Given the description of an element on the screen output the (x, y) to click on. 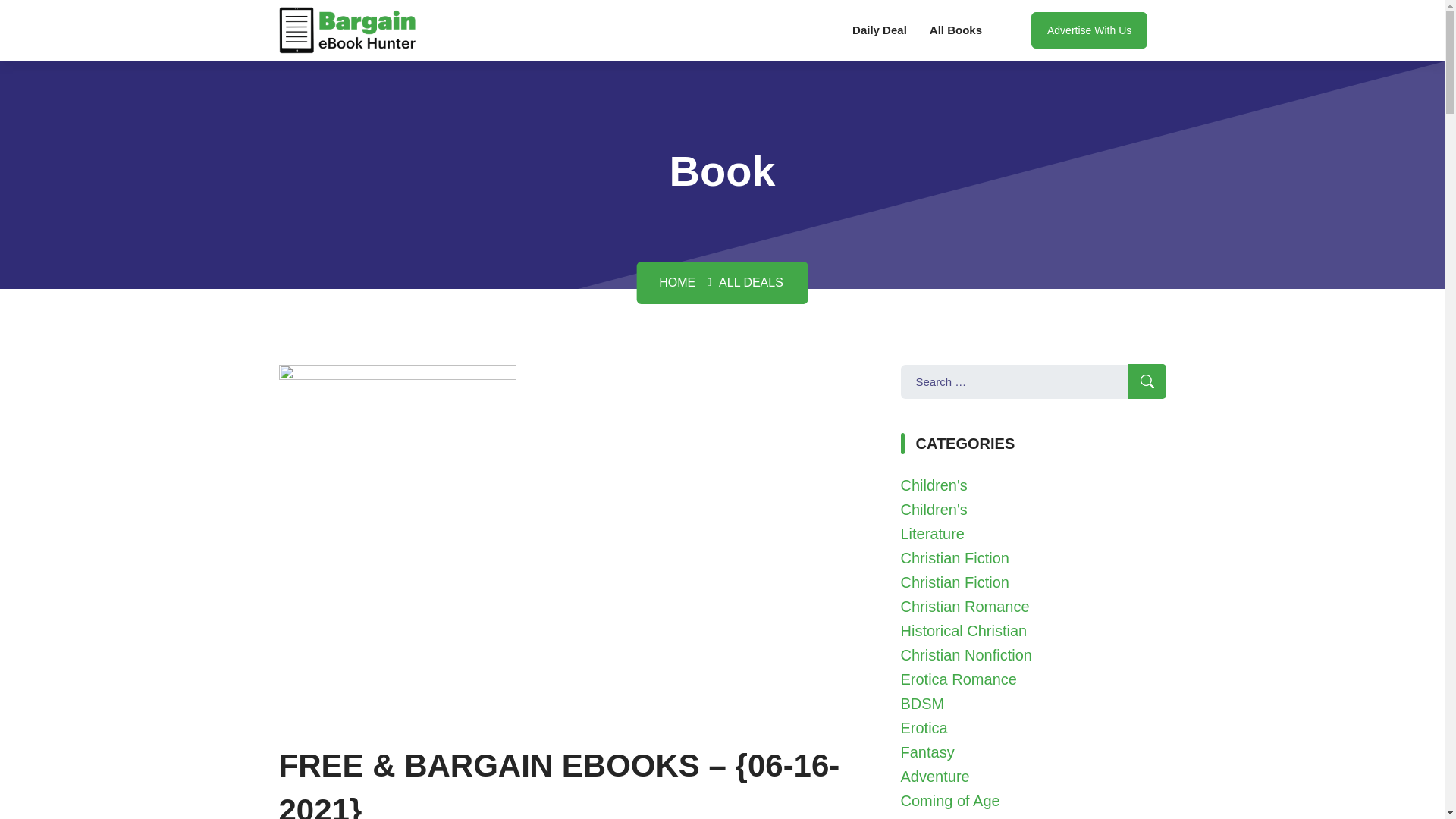
Search (1147, 380)
Search (1147, 380)
All Books (955, 29)
Daily Deal (879, 29)
HOME (677, 282)
Advertise With Us (1088, 30)
